Given the description of an element on the screen output the (x, y) to click on. 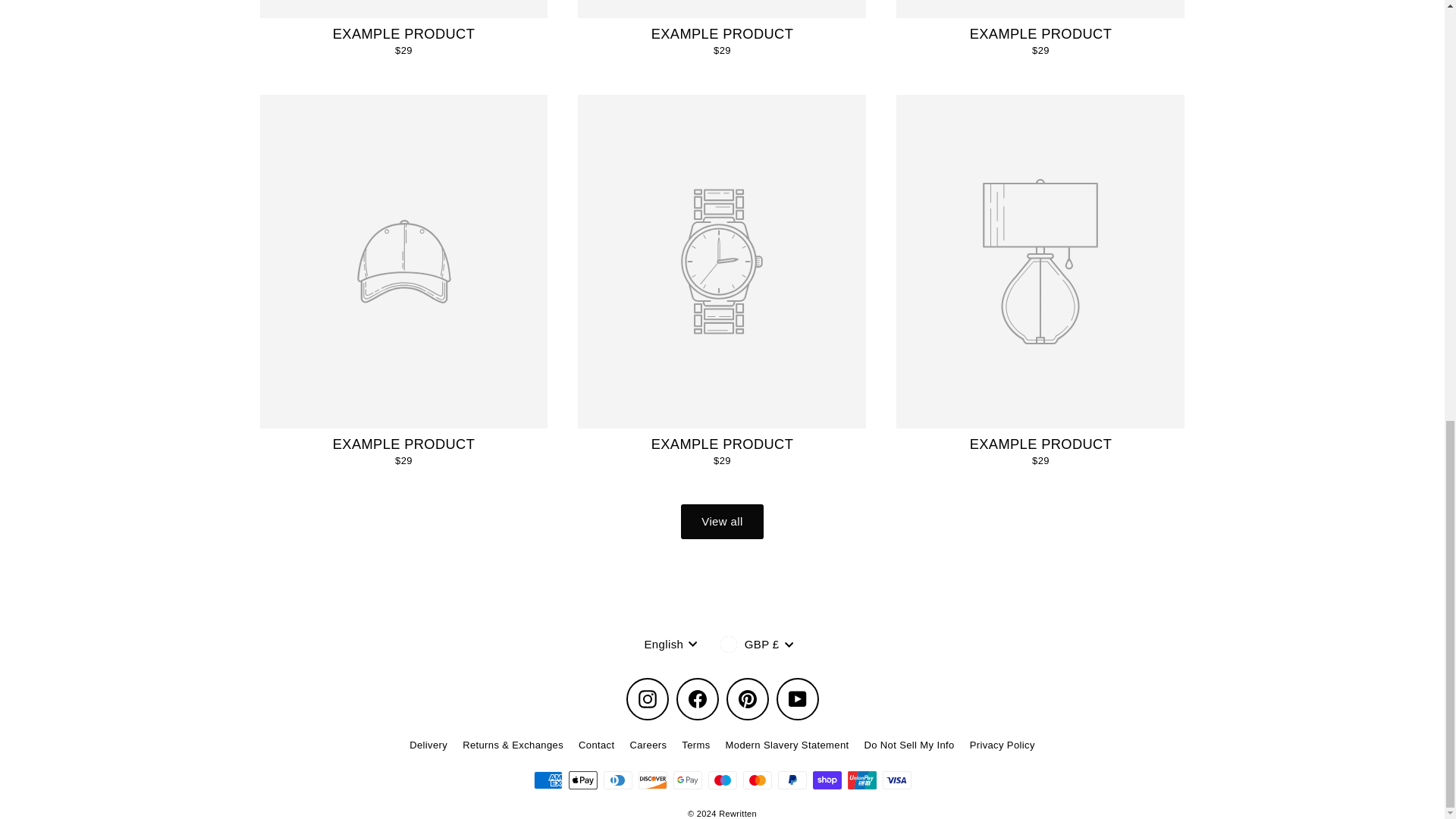
Rewritten  on Instagram (647, 699)
Apple Pay (582, 780)
Discover (652, 780)
Rewritten  on Pinterest (747, 699)
Rewritten  on YouTube (797, 699)
Rewritten  on Facebook (698, 699)
Diners Club (617, 780)
American Express (548, 780)
